Given the description of an element on the screen output the (x, y) to click on. 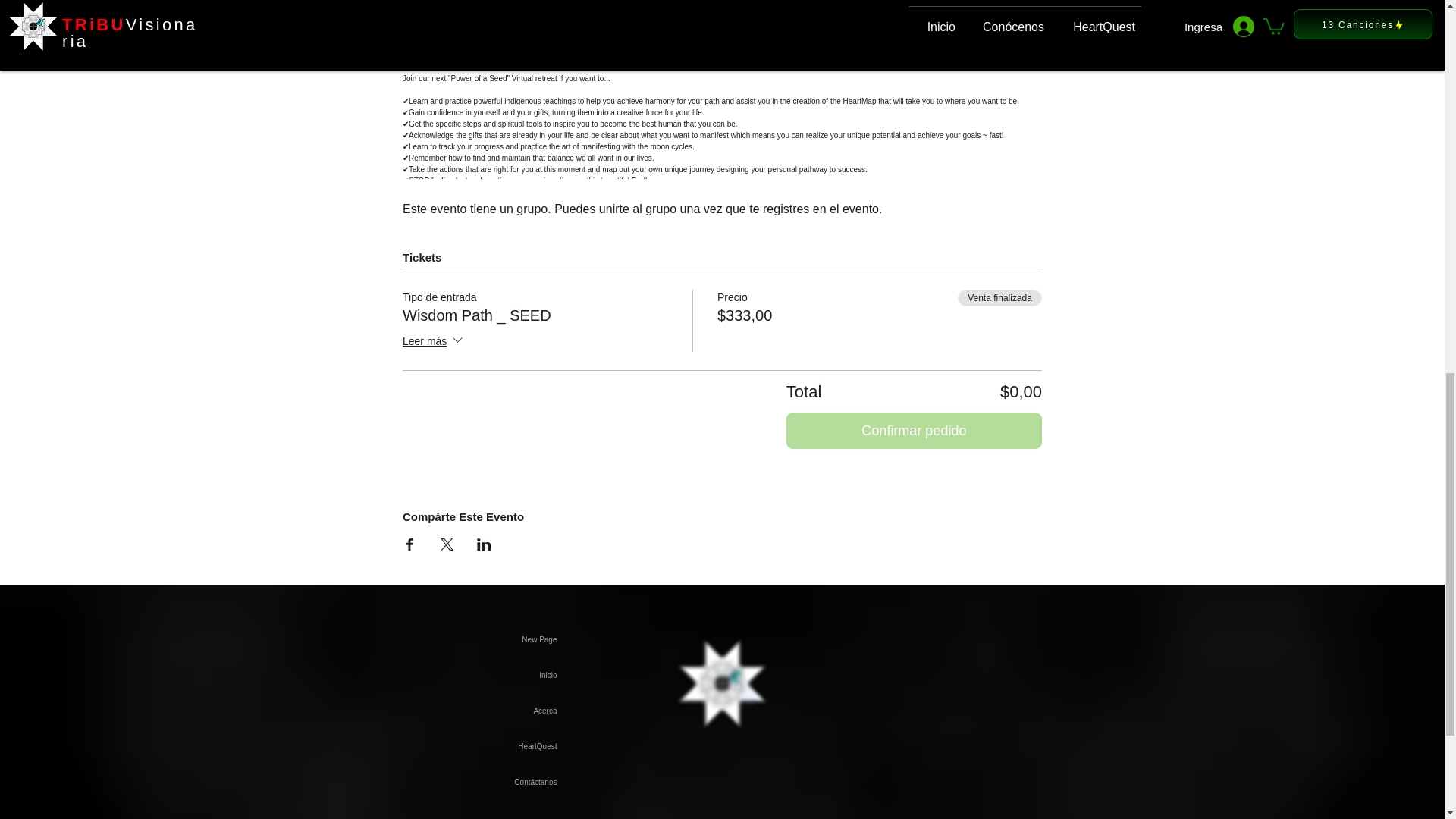
Inicio (473, 674)
Confirmar pedido (914, 430)
New Page (473, 639)
